Given the description of an element on the screen output the (x, y) to click on. 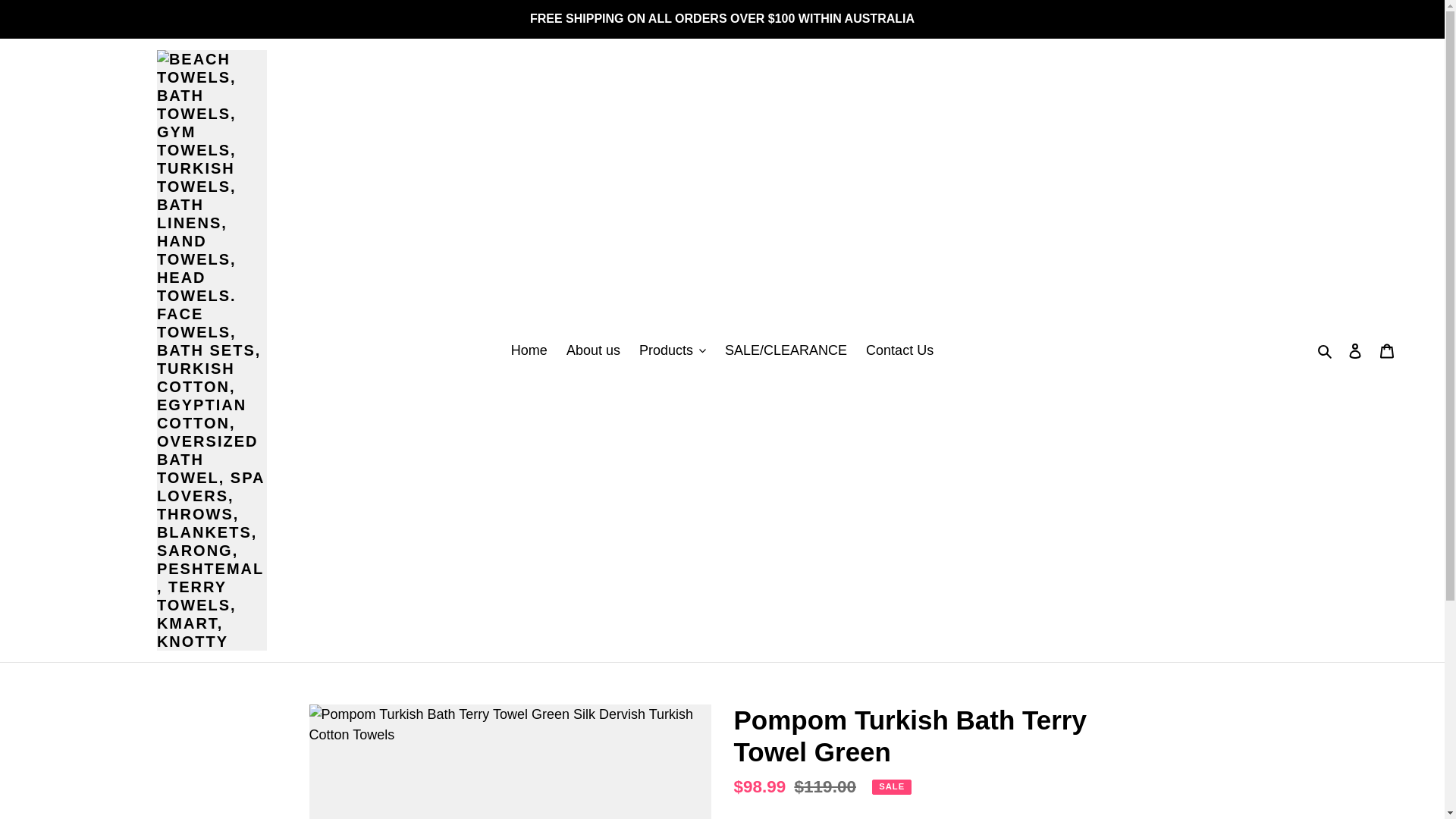
About us (593, 350)
Contact Us (899, 350)
Home (528, 350)
Search (1326, 350)
Cart (1387, 349)
Log in (1355, 349)
Products (672, 350)
